Given the description of an element on the screen output the (x, y) to click on. 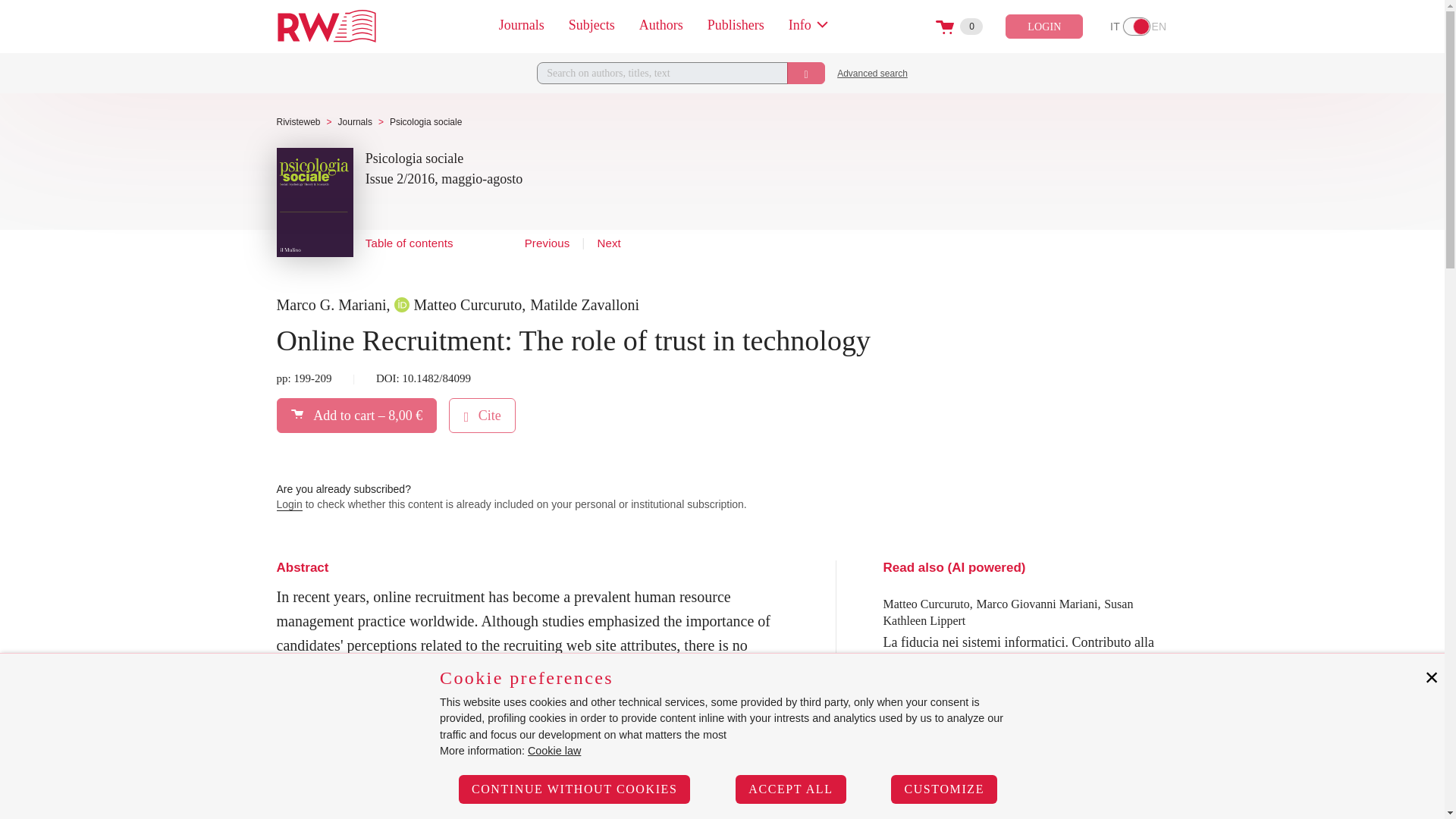
Previous (547, 243)
Matilde Zavalloni (584, 305)
Matteo Curcuruto (457, 305)
Show next article (608, 243)
Change language IT-EN. Currently in use: English (1137, 26)
orcid 0000-0002-4898-2440 (401, 304)
Go to the journal (414, 158)
Rivisteweb (298, 122)
LOGIN (1044, 26)
Cite (1137, 26)
Journals (481, 415)
Add to cart (354, 122)
Rivisteweb Home (356, 415)
0 (325, 25)
